Given the description of an element on the screen output the (x, y) to click on. 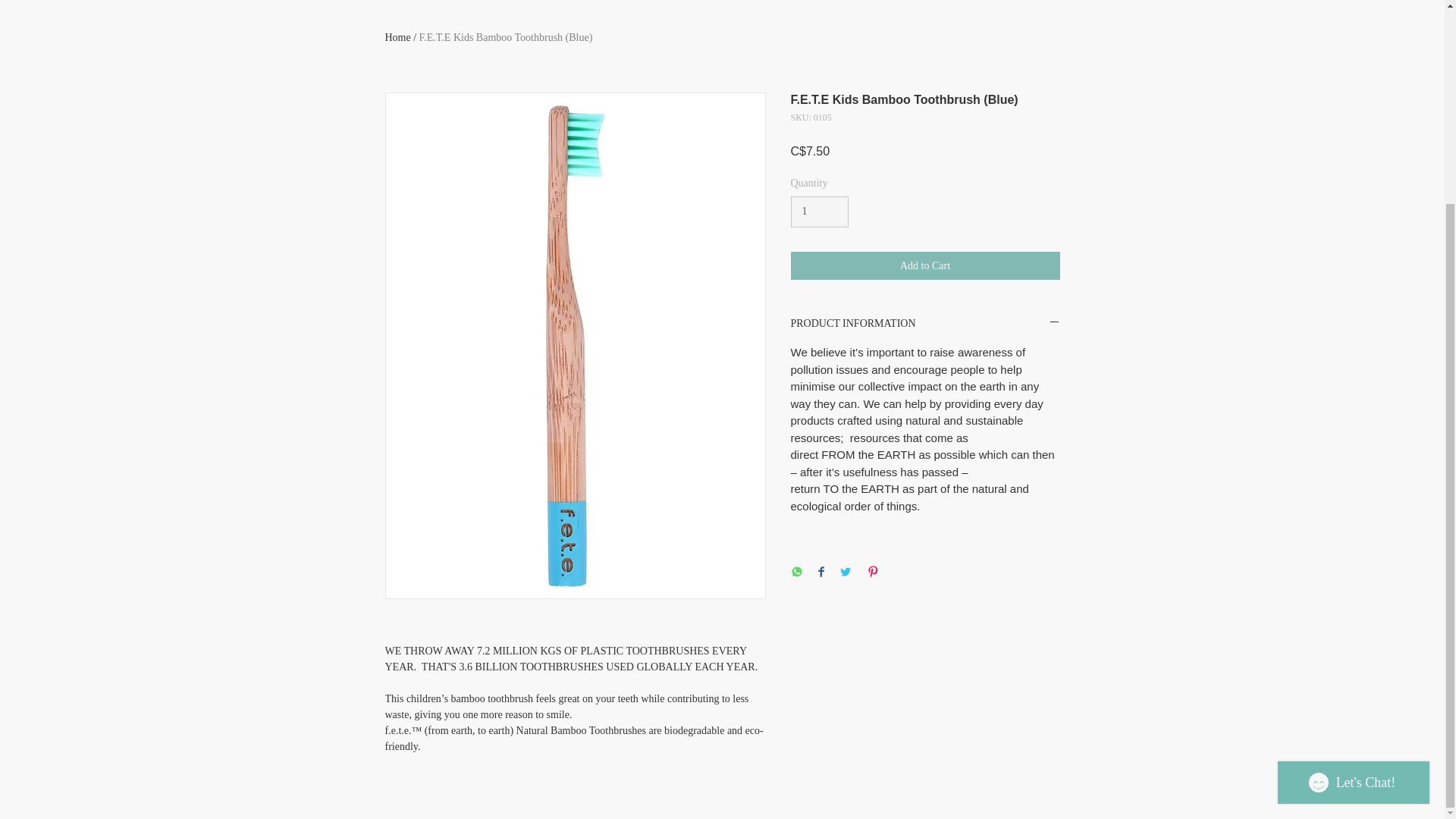
Add to Cart (924, 265)
1 (818, 211)
Home (397, 37)
PRODUCT INFORMATION (924, 324)
